Given the description of an element on the screen output the (x, y) to click on. 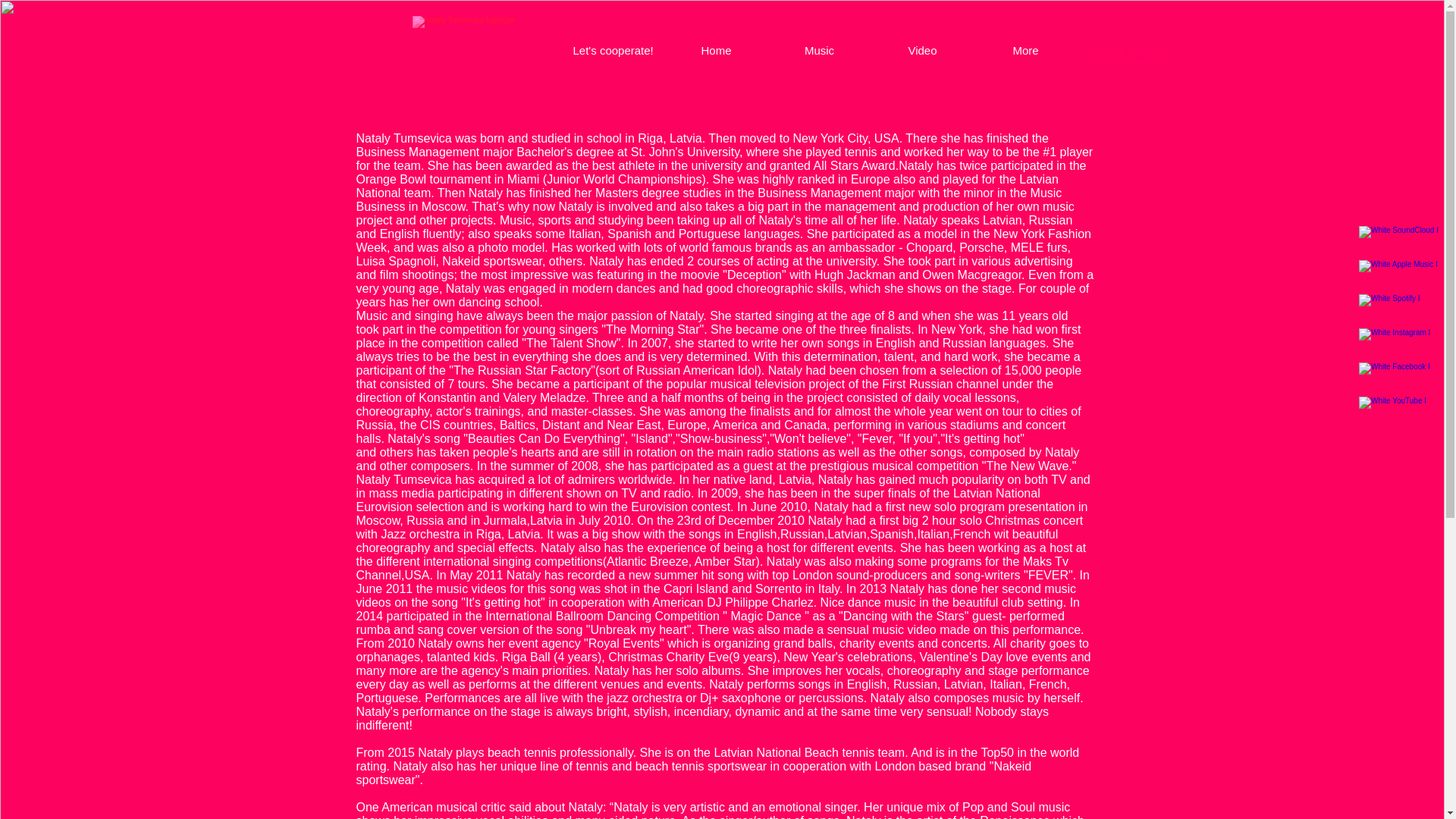
Log In (1126, 53)
Video (922, 50)
Let's cooperate! (611, 50)
Music (818, 50)
Home (715, 50)
